Given the description of an element on the screen output the (x, y) to click on. 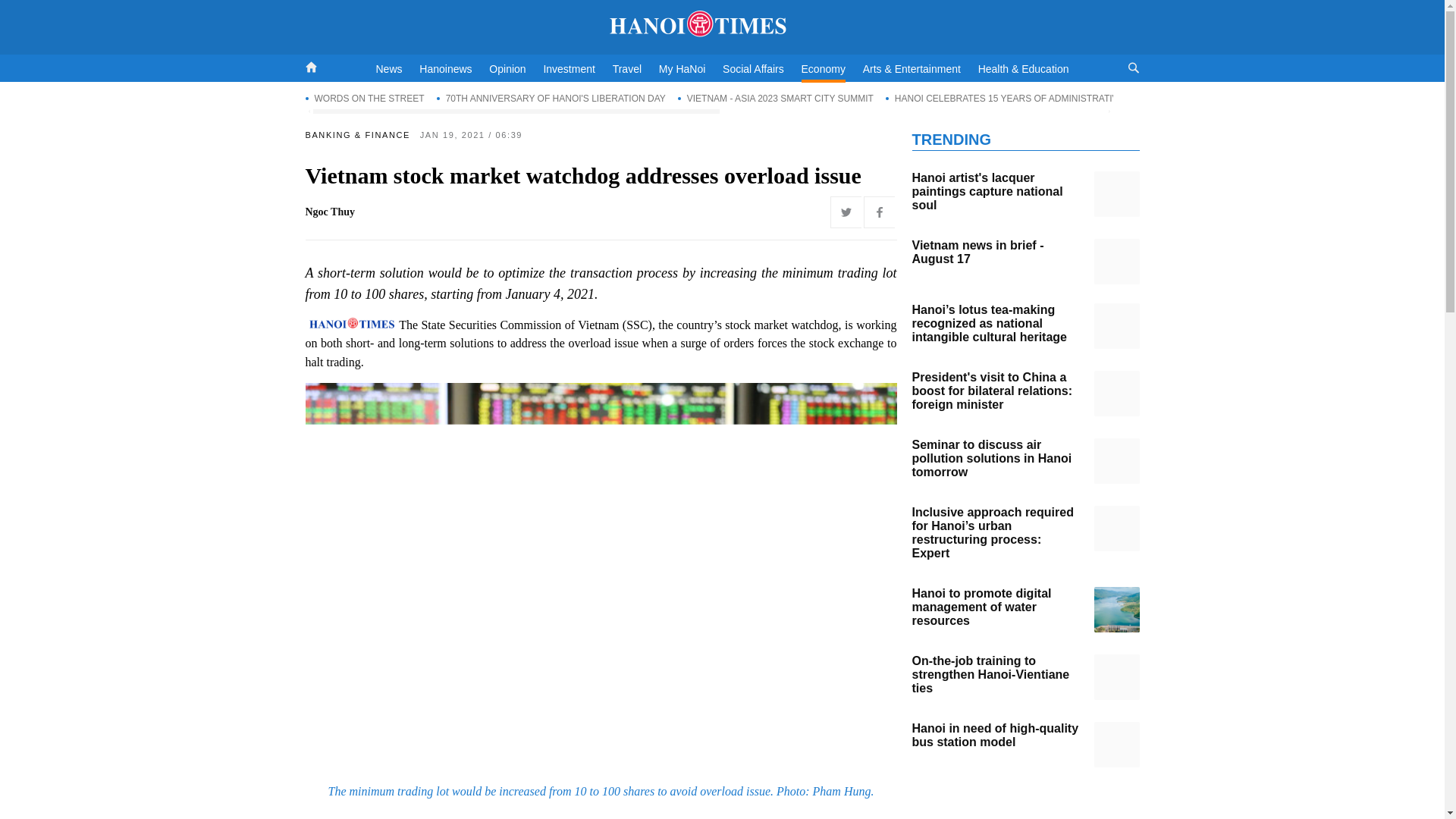
Hanoi Times (721, 24)
Seminar to discuss air pollution solutions in Hanoi tomorrow (1115, 461)
Hanoinews (445, 69)
On-the-job training to strengthen Hanoi-Vientiane ties (1115, 677)
Vietnam - Asia 2023 Smart City Summit  (775, 98)
Travel (627, 69)
Hanoi to promote digital management of water resources (1115, 609)
Hanoi artist's lacquer paintings capture national soul (1115, 194)
Vietnam news in brief - August 17 (1115, 261)
